Given the description of an element on the screen output the (x, y) to click on. 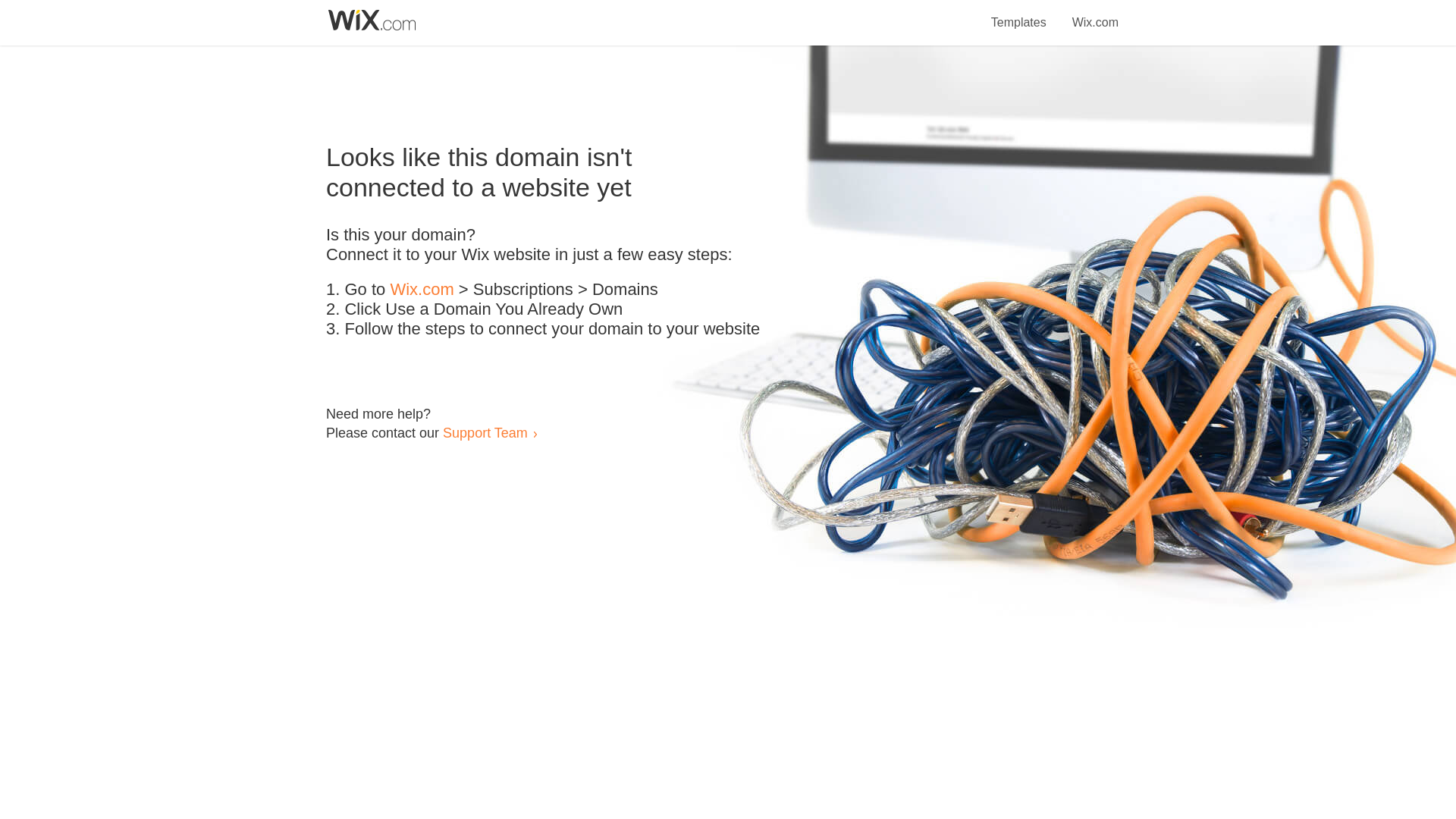
Wix.com (421, 289)
Support Team (484, 432)
Templates (1018, 14)
Wix.com (1095, 14)
